Given the description of an element on the screen output the (x, y) to click on. 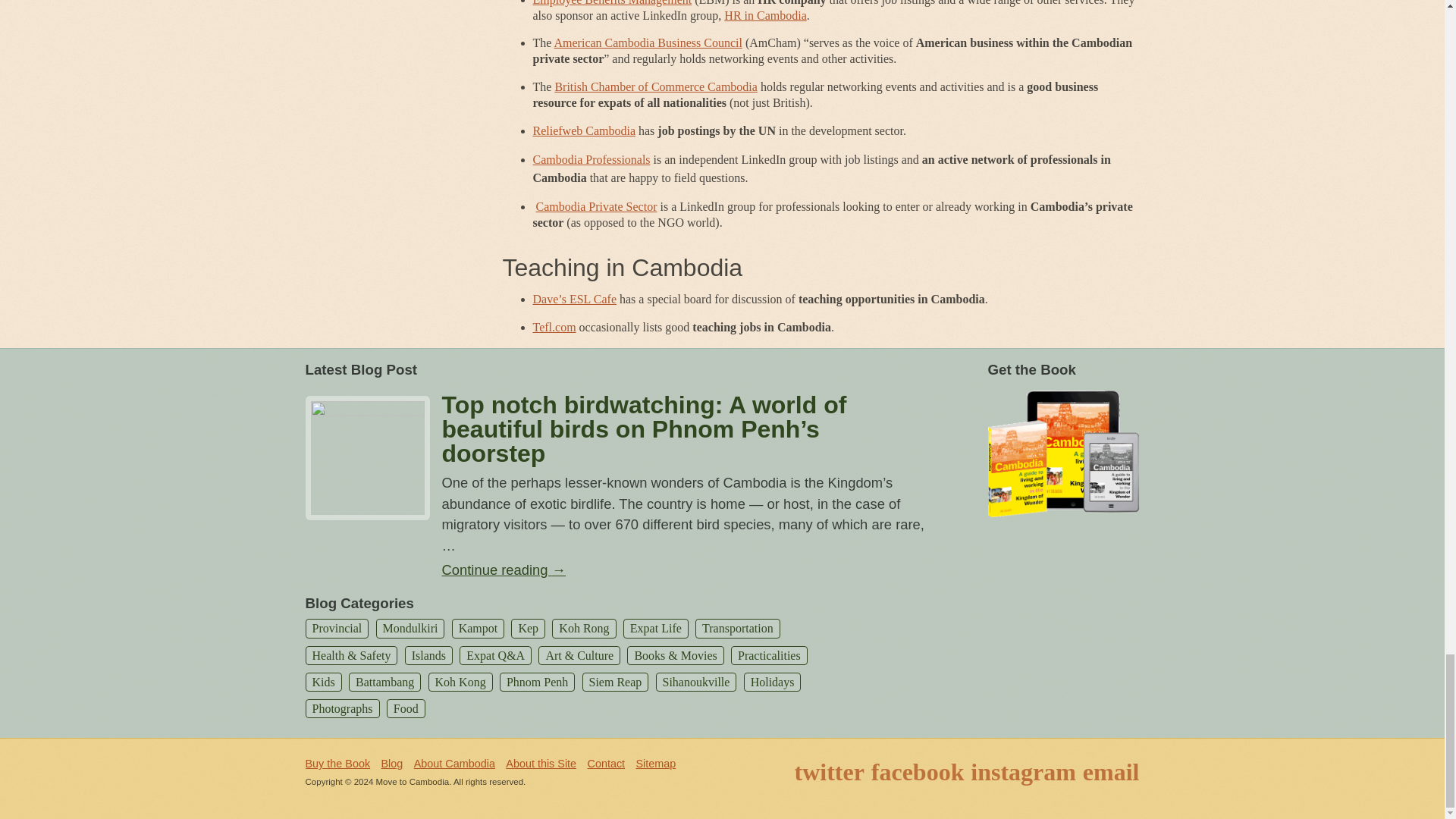
Sign up to receive Move to Cambodia updates by email! (1111, 771)
Buy the Move to Cambodia Ebook (1062, 452)
Like Move to Cambodia on Facebook! (916, 771)
Follow Move to Cambodia on Twitter! (829, 771)
Find Move to Cambodia on Instagram! (1023, 771)
